Given the description of an element on the screen output the (x, y) to click on. 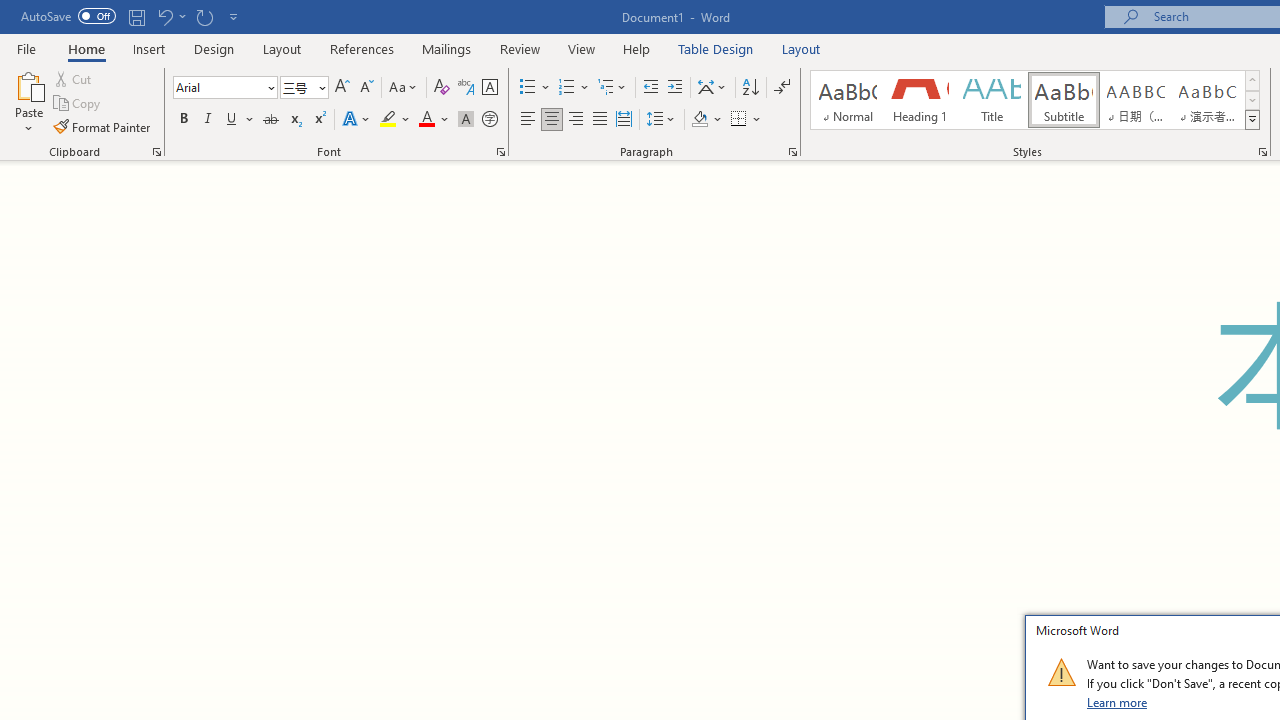
Shading RGB(0, 0, 0) (699, 119)
AutomationID: QuickStylesGallery (1035, 99)
Superscript (319, 119)
Font Color (434, 119)
Copy (78, 103)
Shading (706, 119)
Font... (500, 151)
Font Color Red (426, 119)
Increase Indent (675, 87)
Strikethrough (270, 119)
